Given the description of an element on the screen output the (x, y) to click on. 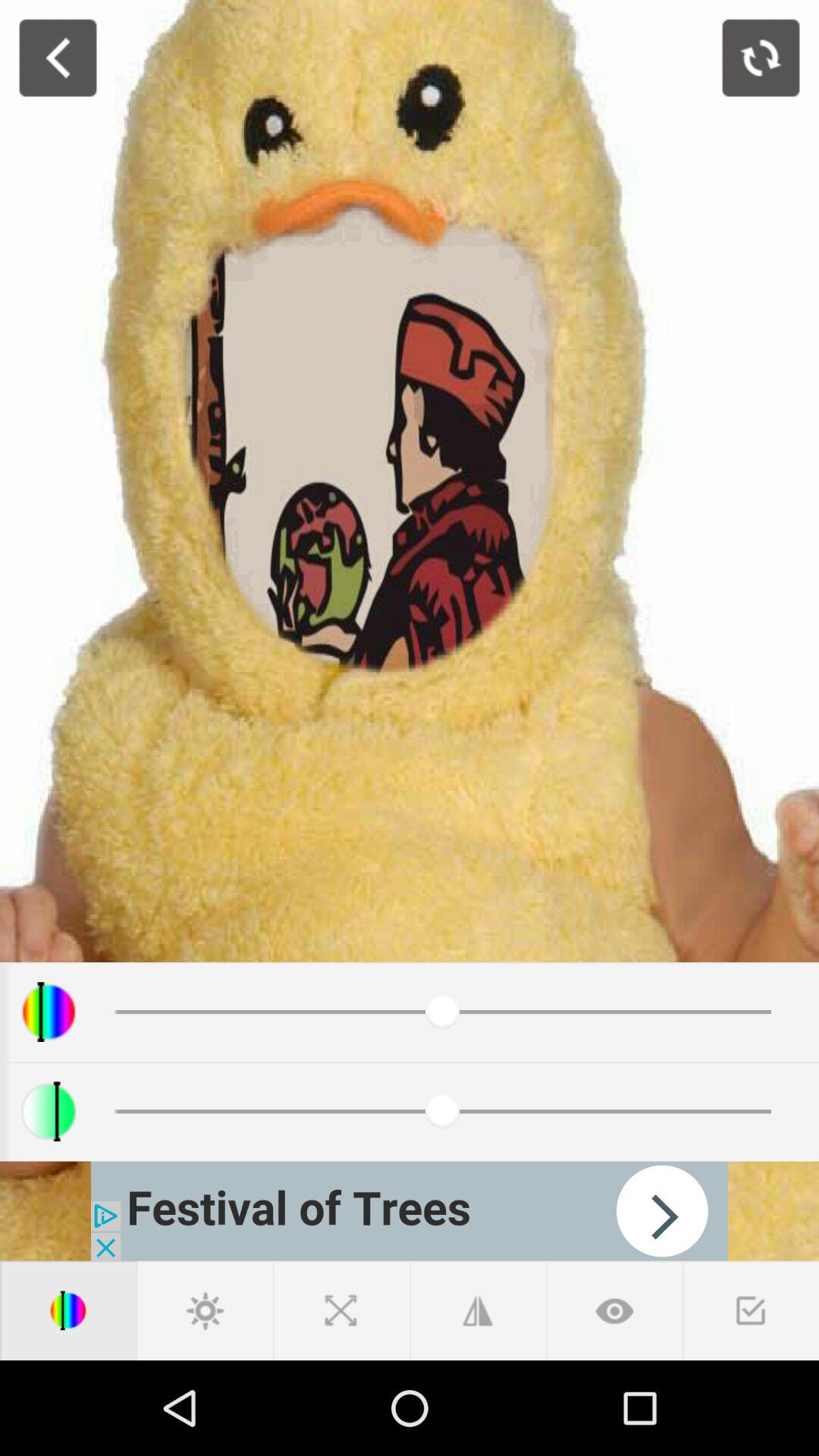
save option (750, 1310)
